Given the description of an element on the screen output the (x, y) to click on. 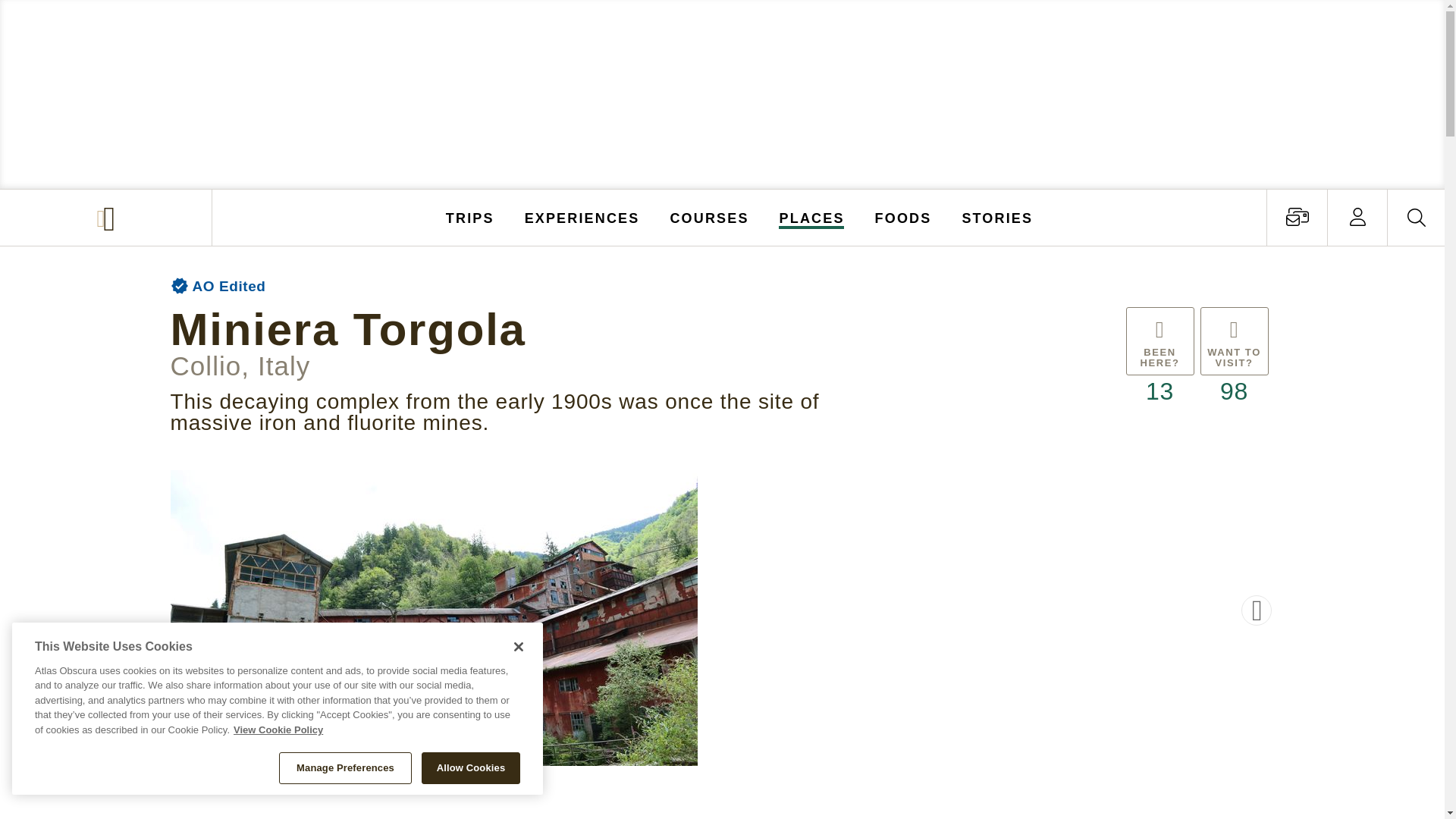
COURSES (707, 217)
EXPERIENCES (582, 217)
PLACES (812, 217)
TRIPS (469, 217)
